Given the description of an element on the screen output the (x, y) to click on. 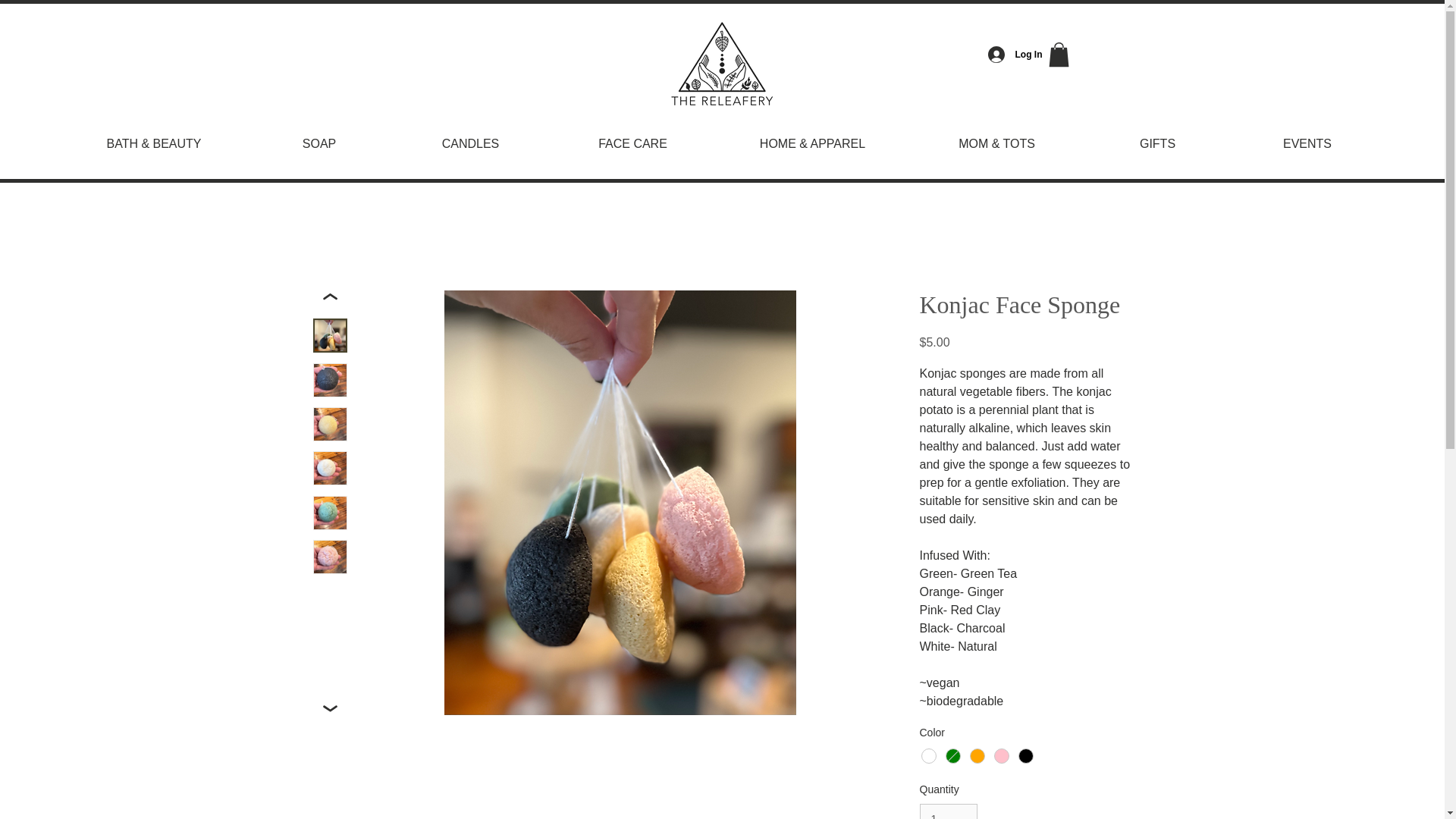
FACE CARE (633, 137)
1 (947, 811)
Log In (1008, 54)
SOAP (319, 137)
CANDLES (470, 137)
EVENTS (1307, 137)
GIFTS (1157, 137)
